Given the description of an element on the screen output the (x, y) to click on. 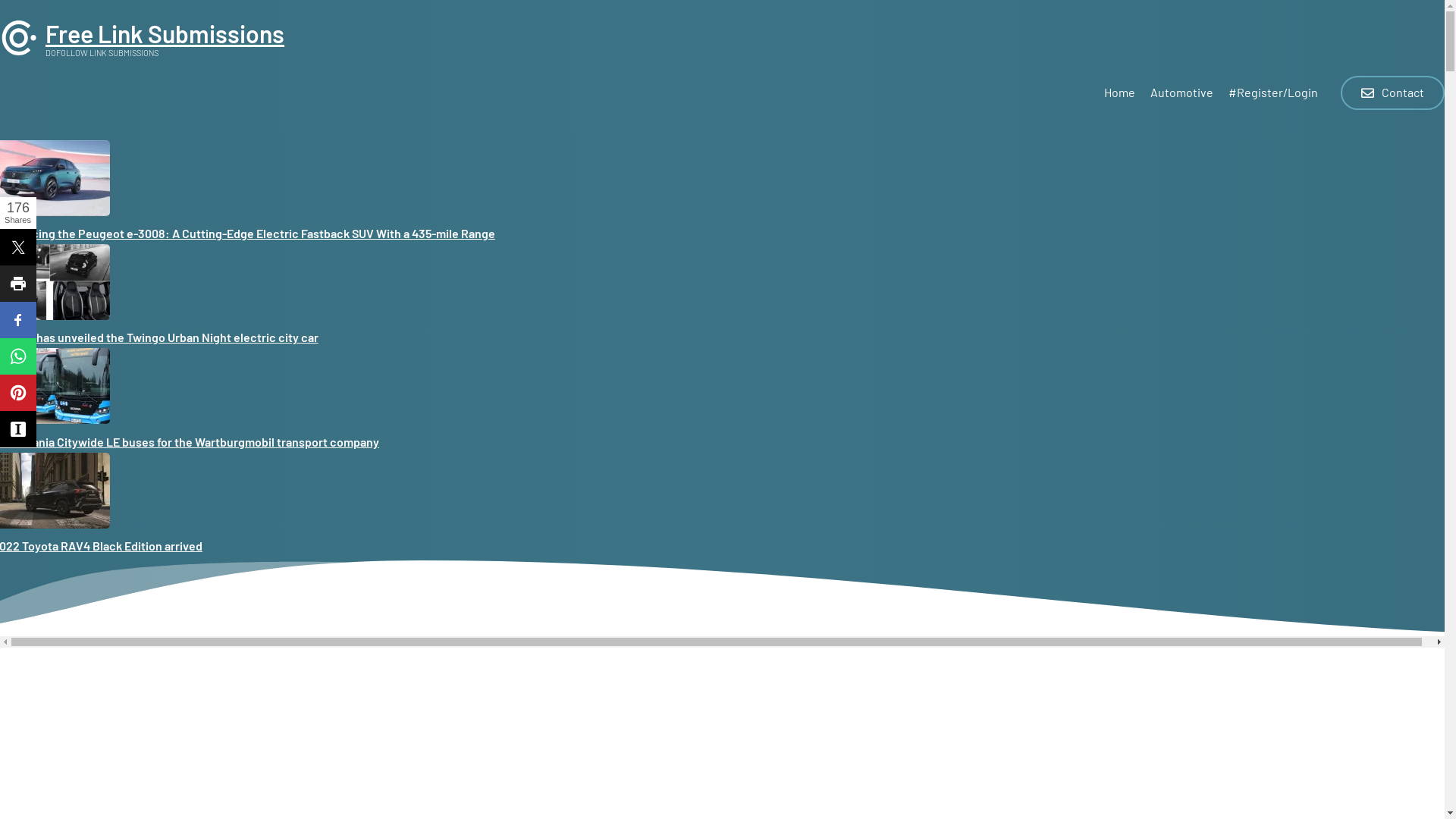
#Register/Login Element type: text (1272, 96)
Free Link Submissions Element type: text (164, 32)
Skip to main content Element type: text (0, 0)
Home Element type: text (1119, 96)
Automotive Element type: text (1181, 96)
Home Element type: hover (18, 51)
Contact Element type: text (1392, 92)
